Given the description of an element on the screen output the (x, y) to click on. 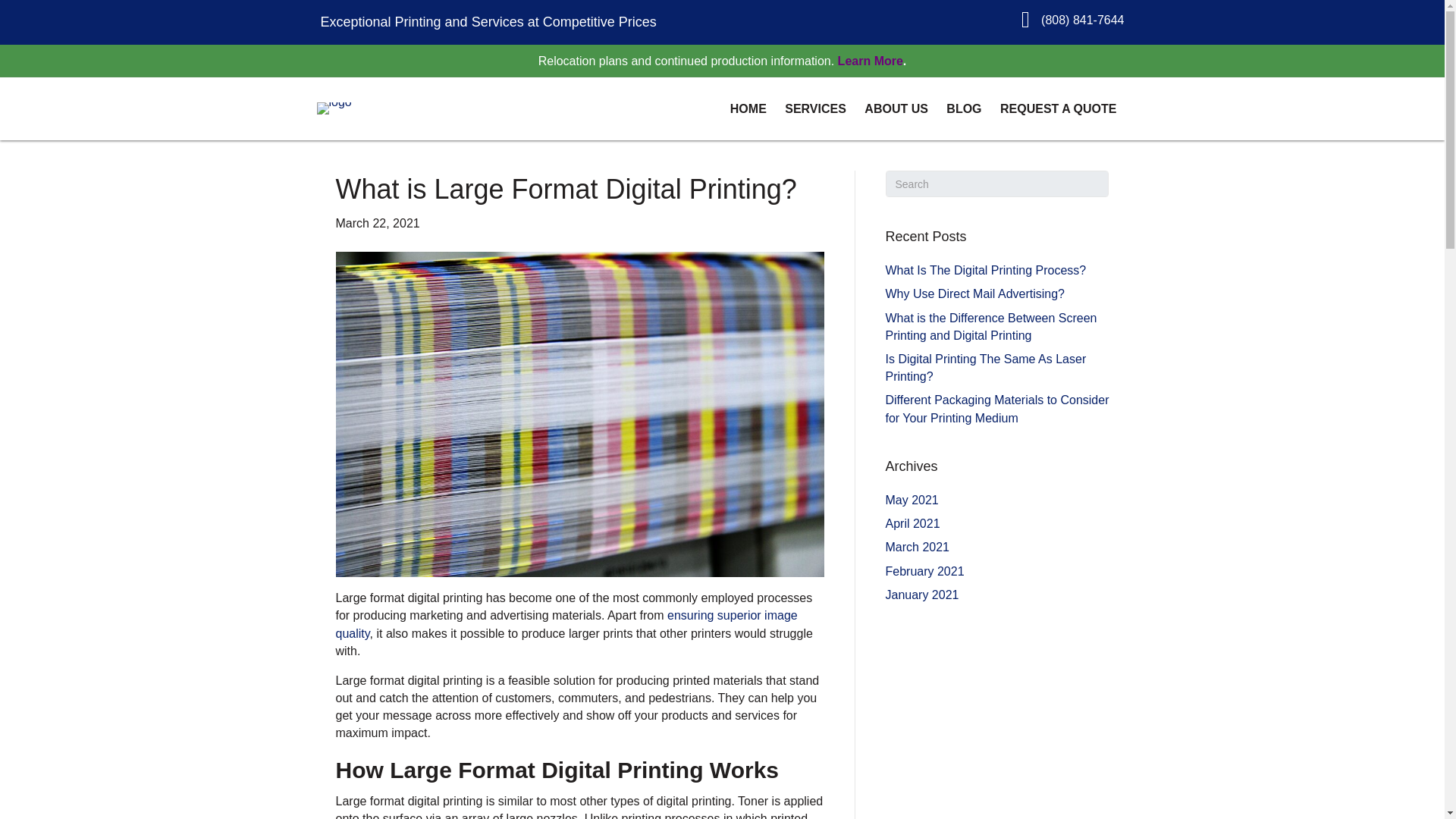
Type and press Enter to search. (997, 183)
REQUEST A QUOTE (1058, 108)
Learn More (870, 60)
Exceptional Printing and Services at Competitive Prices (488, 21)
March 2021 (917, 546)
April 2021 (912, 522)
ABOUT US (896, 108)
BLOG (963, 108)
February 2021 (924, 570)
SERVICES (815, 108)
